Given the description of an element on the screen output the (x, y) to click on. 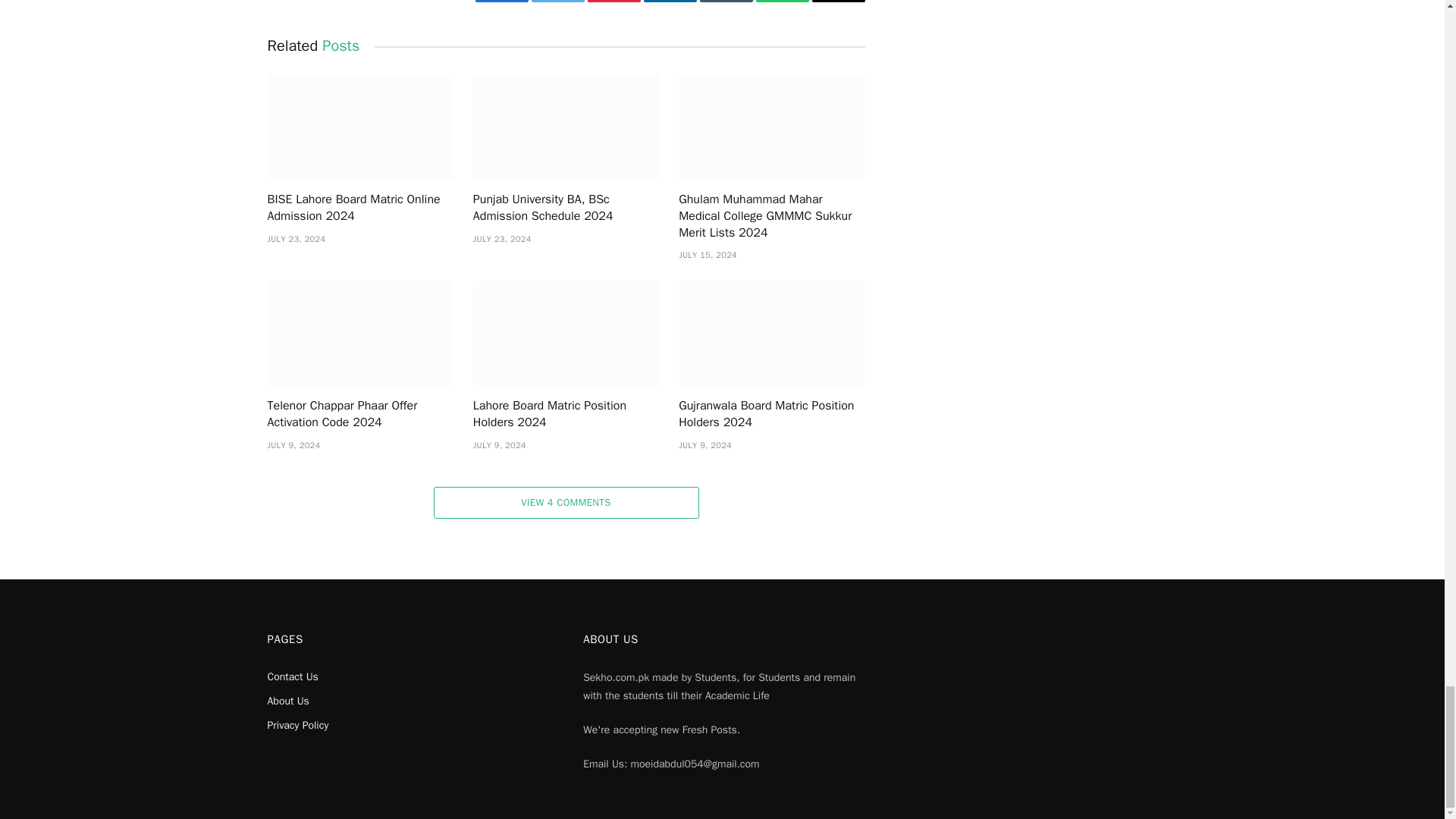
Share on Facebook (500, 1)
Twitter (557, 1)
Pinterest (613, 1)
Facebook (500, 1)
WhatsApp (781, 1)
Tumblr (725, 1)
LinkedIn (669, 1)
Email (837, 1)
